Given the description of an element on the screen output the (x, y) to click on. 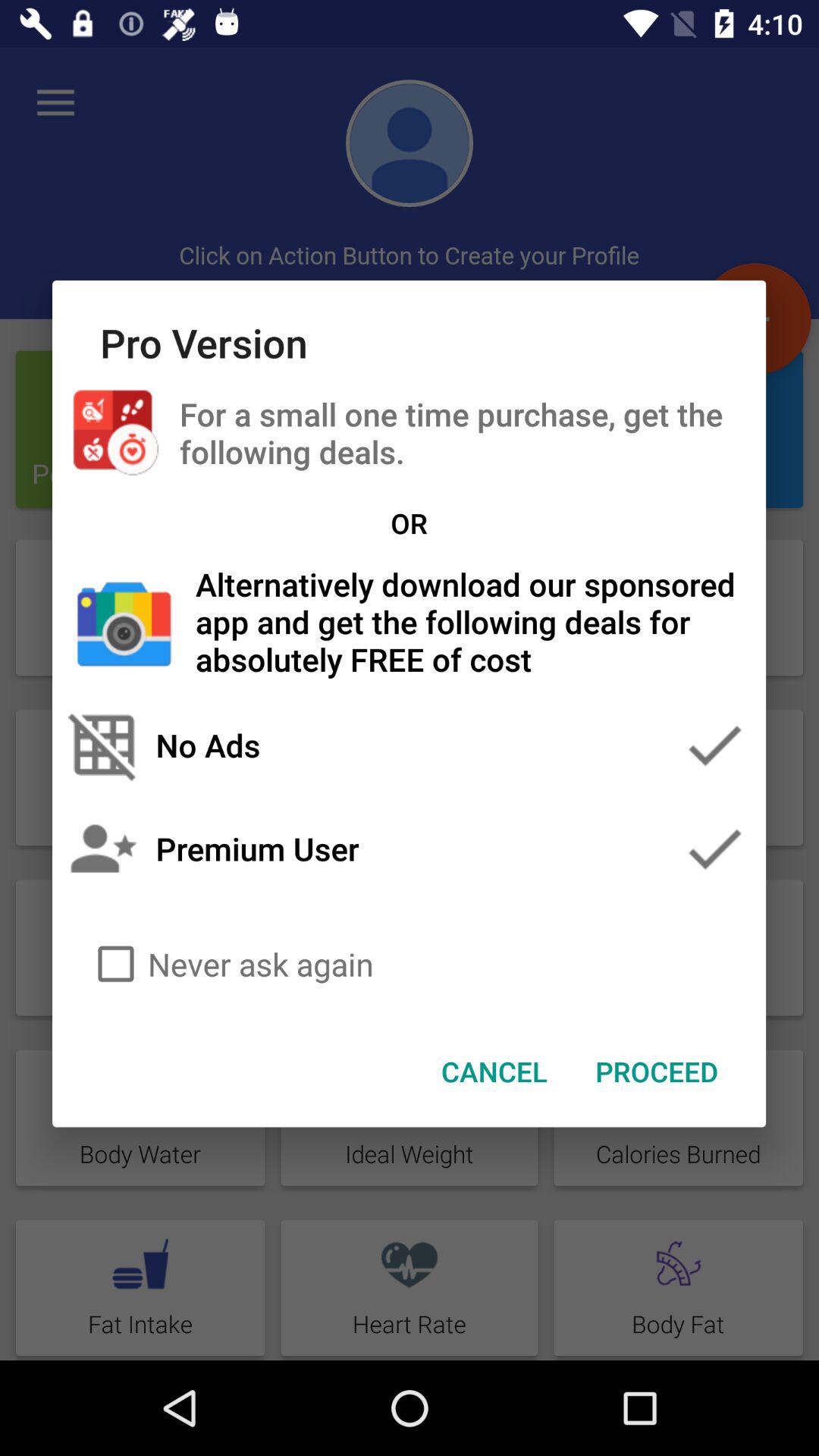
turn on the proceed (656, 1071)
